Given the description of an element on the screen output the (x, y) to click on. 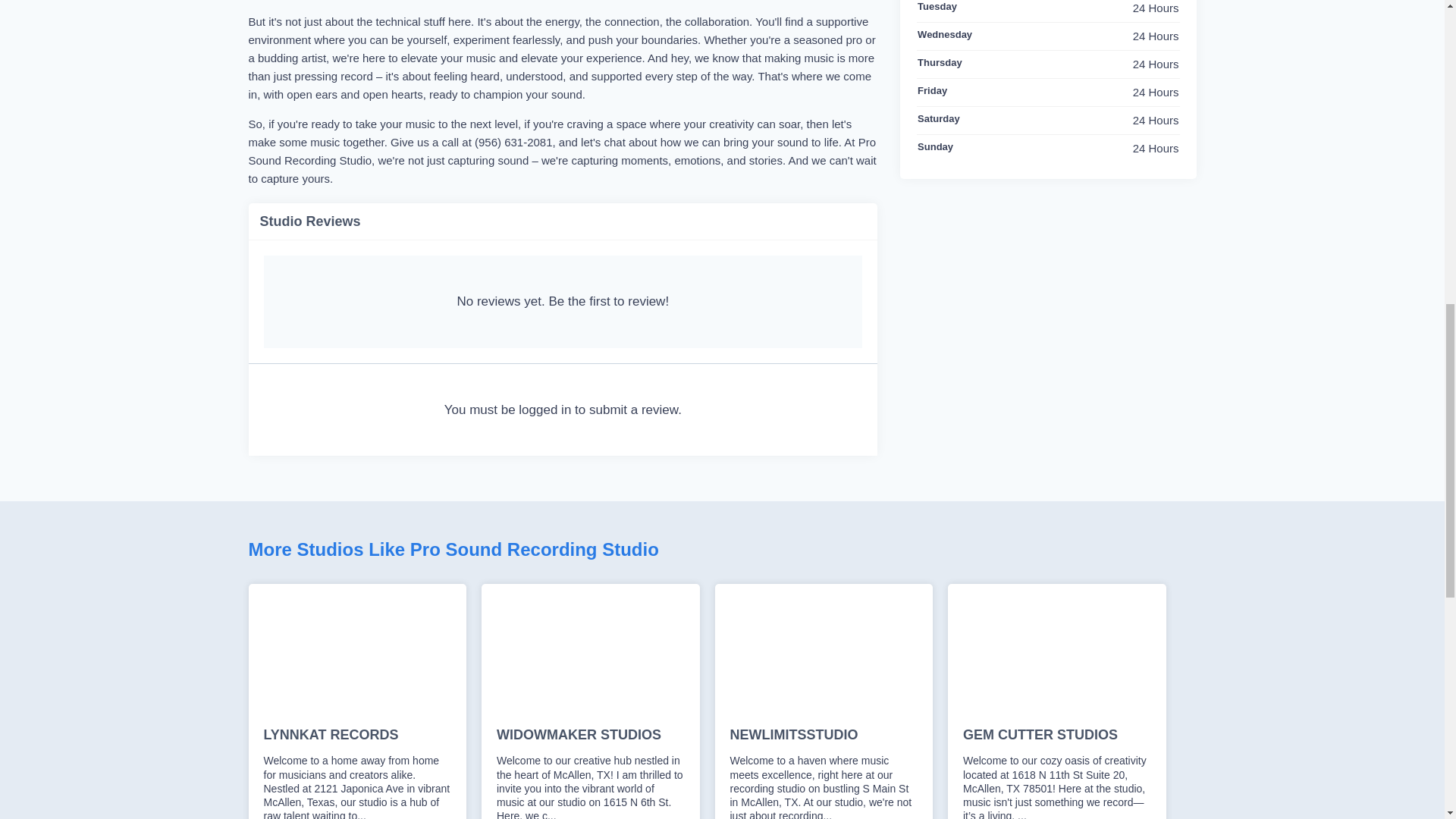
GEM CUTTER STUDIOS (1056, 735)
WIDOWMAKER STUDIOS (590, 735)
LYNNKAT RECORDS (357, 735)
NEWLIMITSSTUDIO (823, 735)
